Given the description of an element on the screen output the (x, y) to click on. 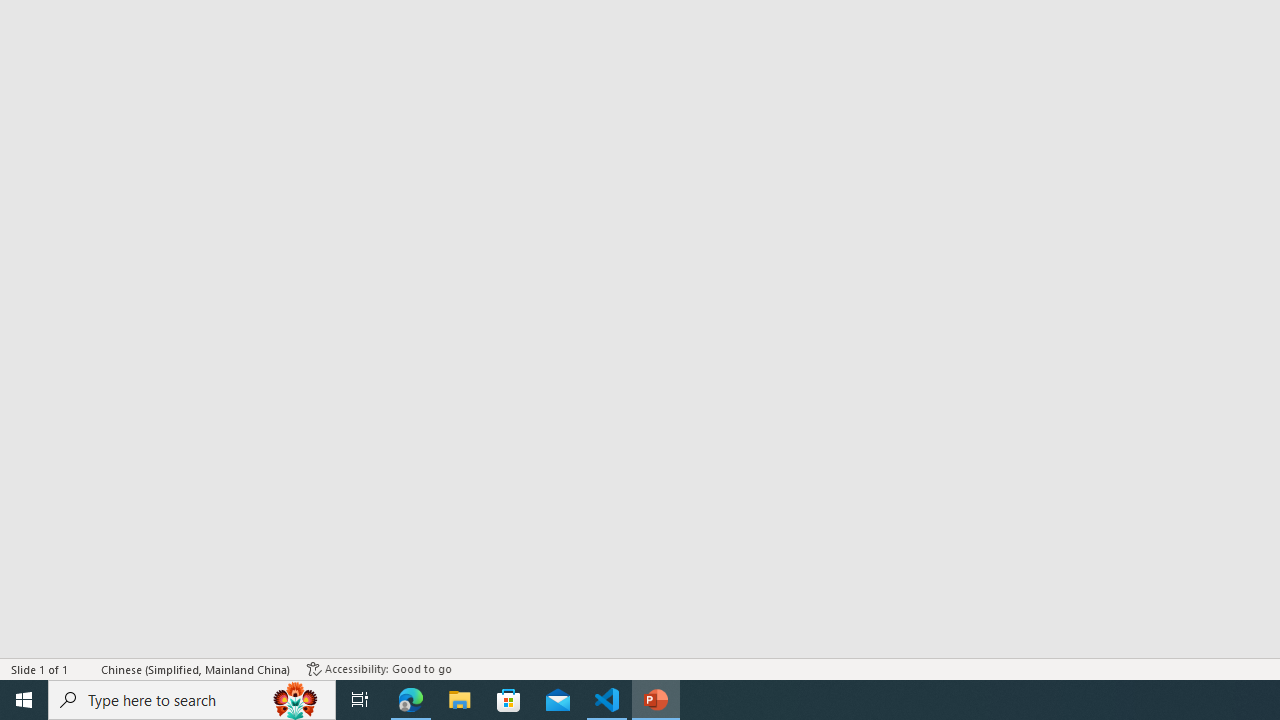
Accessibility Checker Accessibility: Good to go (379, 668)
Spell Check  (86, 668)
